Given the description of an element on the screen output the (x, y) to click on. 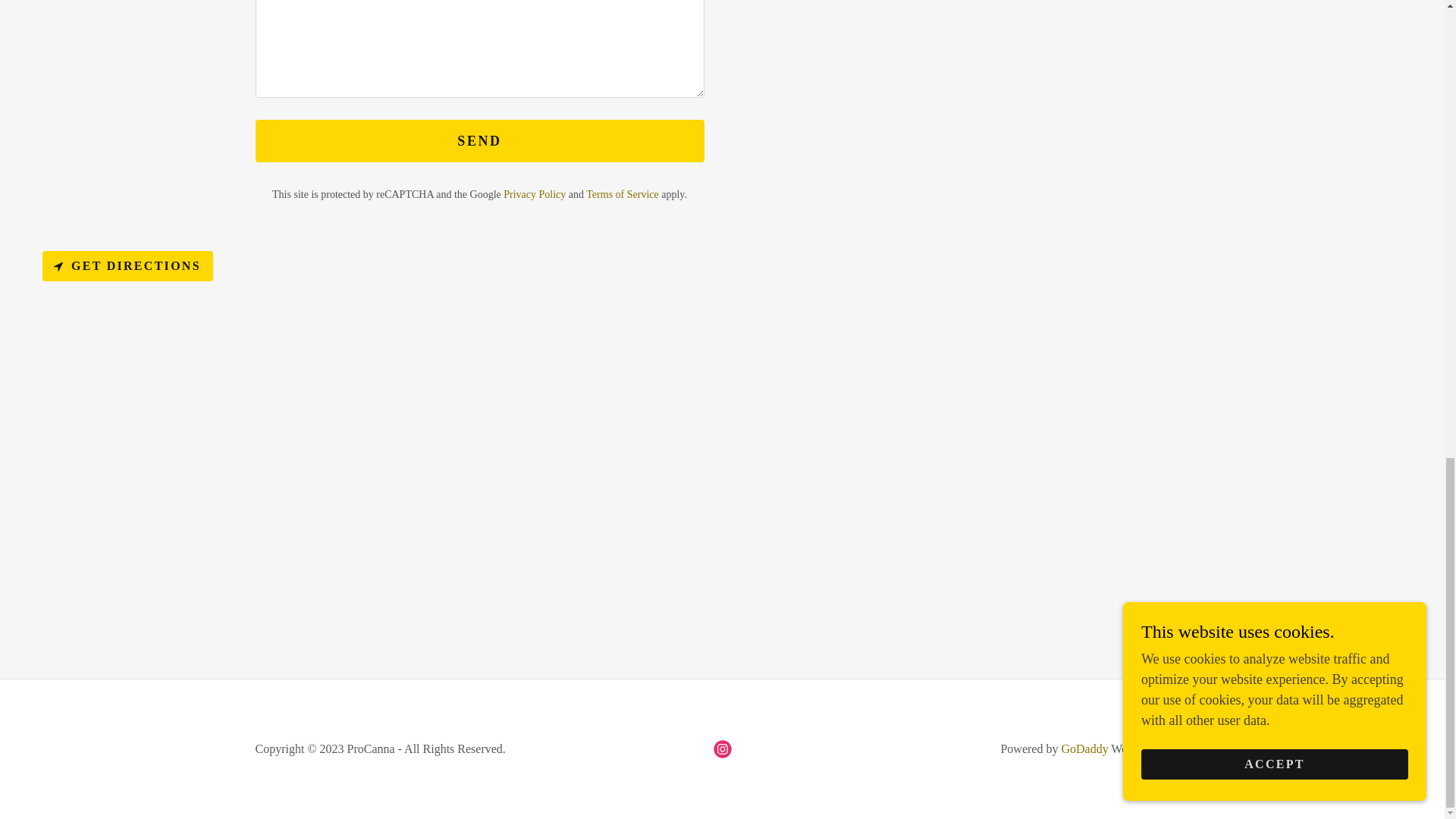
Terms of Service (622, 194)
GET DIRECTIONS (127, 265)
SEND (478, 140)
GoDaddy (1084, 748)
Privacy Policy (534, 194)
